Given the description of an element on the screen output the (x, y) to click on. 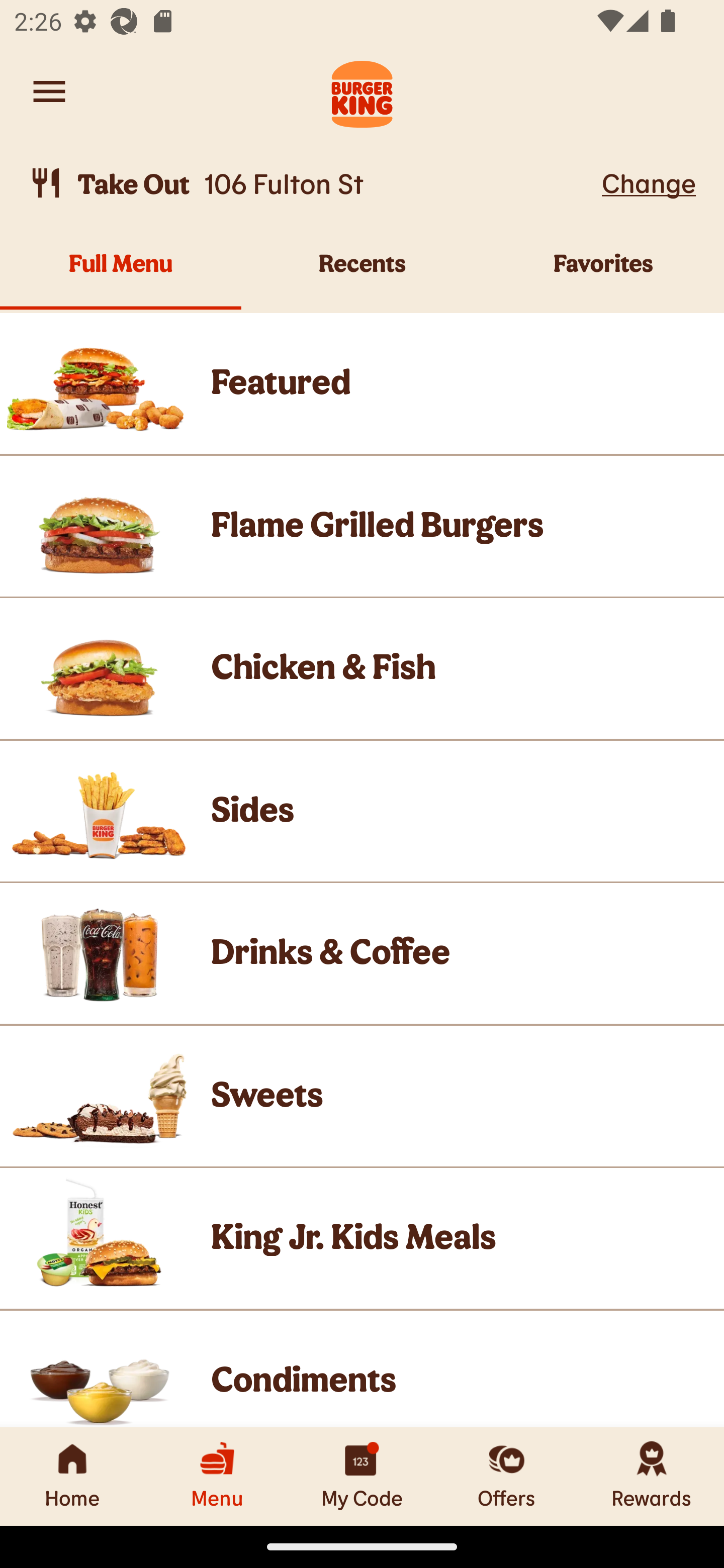
Burger King Logo. Navigate to Home (362, 91)
Navigate to account menu  (49, 91)
Take Out, 106 Fulton St  Take Out 106 Fulton St (311, 183)
Change (648, 182)
Full Menu (120, 273)
Recents (361, 273)
Favorites (603, 273)
Product Image, Featured Product Image Featured (362, 383)
Product Image, Sides Product Image Sides (362, 810)
Product Image, Sweets Product Image Sweets (362, 1095)
Product Image, Condiments Product Image Condiments (362, 1368)
Home (72, 1475)
Menu (216, 1475)
My Code (361, 1475)
Offers (506, 1475)
Rewards (651, 1475)
